Given the description of an element on the screen output the (x, y) to click on. 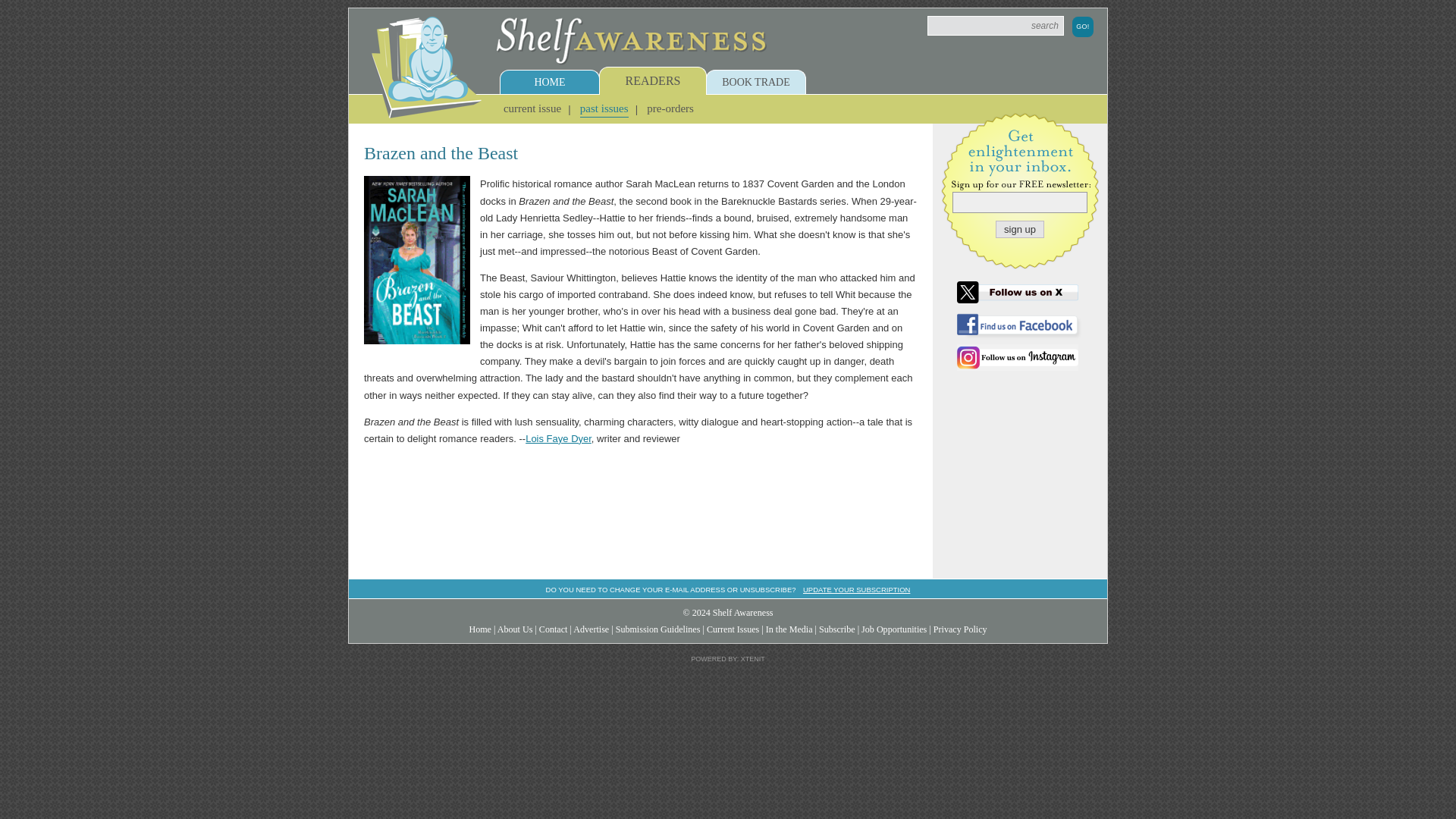
Home (480, 629)
Go! (1082, 26)
UPDATE YOUR SUBSCRIPTION (856, 589)
Submission Guidelines (657, 629)
past issues (603, 108)
Go! (1082, 26)
Lois Faye Dyer (558, 438)
Search News and Articles (995, 25)
Privacy Policy (960, 629)
sign up (1019, 229)
